Given the description of an element on the screen output the (x, y) to click on. 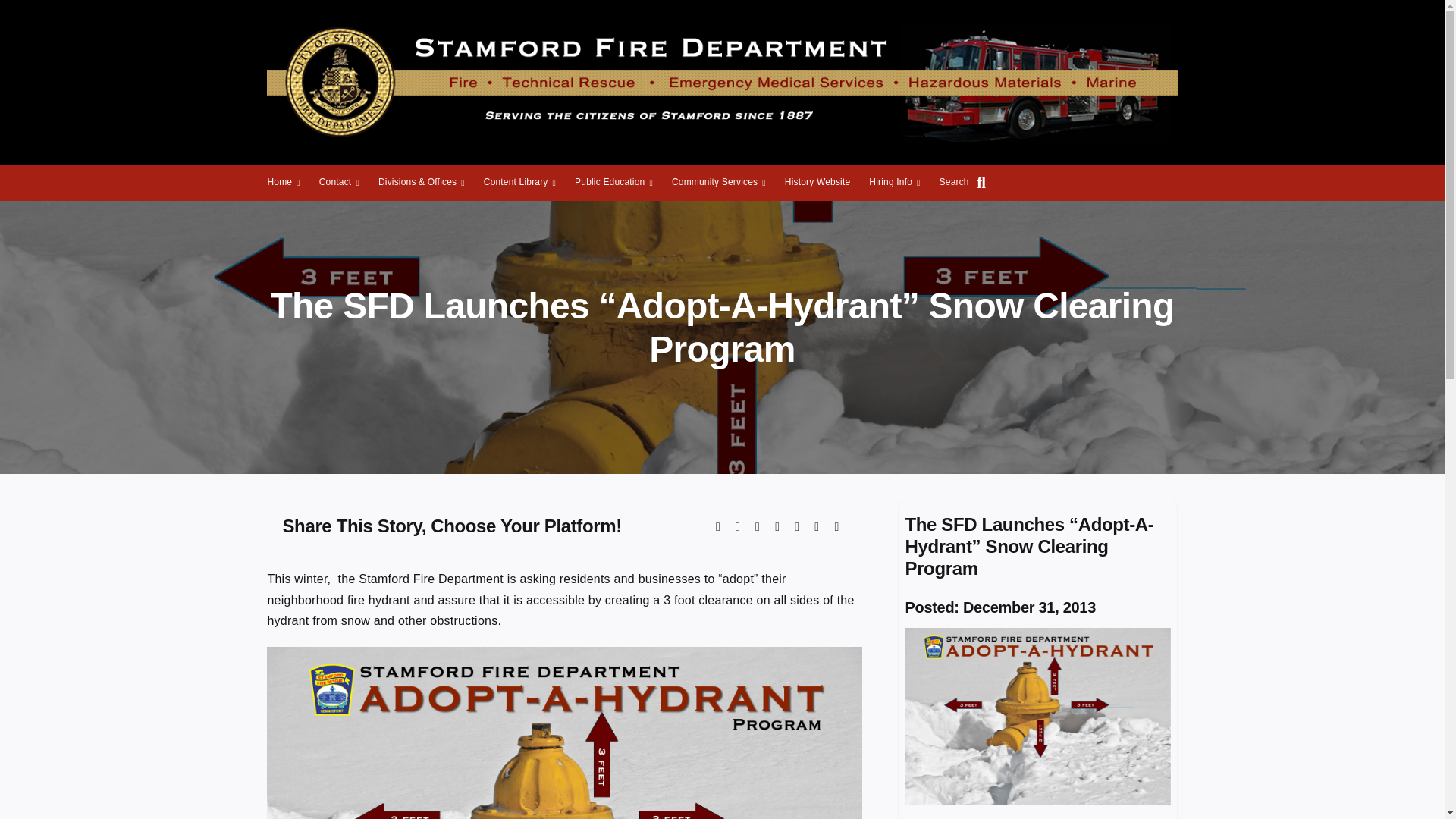
Reddit (757, 526)
WhatsApp (796, 526)
Facebook (717, 526)
Content Library (519, 182)
LinkedIn (777, 526)
Adopt-A-Hydrant (1037, 716)
Search (966, 182)
Pinterest (816, 526)
Home (282, 182)
X (738, 526)
